Given the description of an element on the screen output the (x, y) to click on. 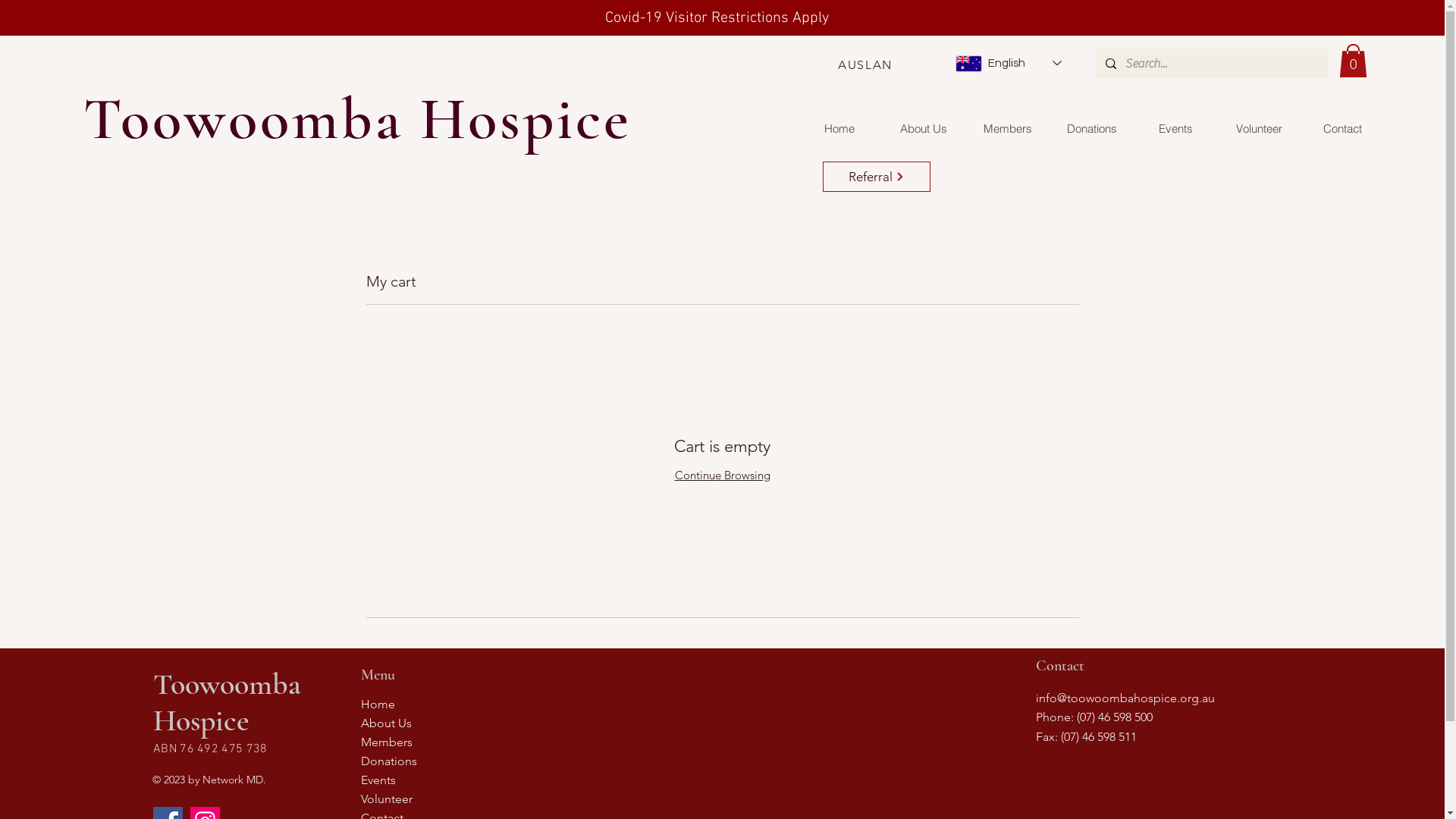
Events Element type: text (441, 779)
info@toowoombahospice.org.au Element type: text (1124, 697)
Members Element type: text (441, 741)
Events Element type: text (1175, 128)
Volunteer Element type: text (1258, 128)
Home Element type: text (441, 703)
Continue Browsing Element type: text (722, 474)
Donations Element type: text (1091, 128)
Referral Element type: text (876, 176)
About Us Element type: text (441, 722)
AUSLAN Element type: text (866, 64)
Donations Element type: text (441, 760)
Toowoomba Hospice Element type: text (357, 118)
About Us Element type: text (923, 128)
Volunteer Element type: text (441, 798)
Covid-19 Visitor Restrictions Apply Element type: text (716, 17)
Home Element type: text (839, 128)
0 Element type: text (1353, 60)
Contact Element type: text (1341, 128)
Members Element type: text (1007, 128)
